Given the description of an element on the screen output the (x, y) to click on. 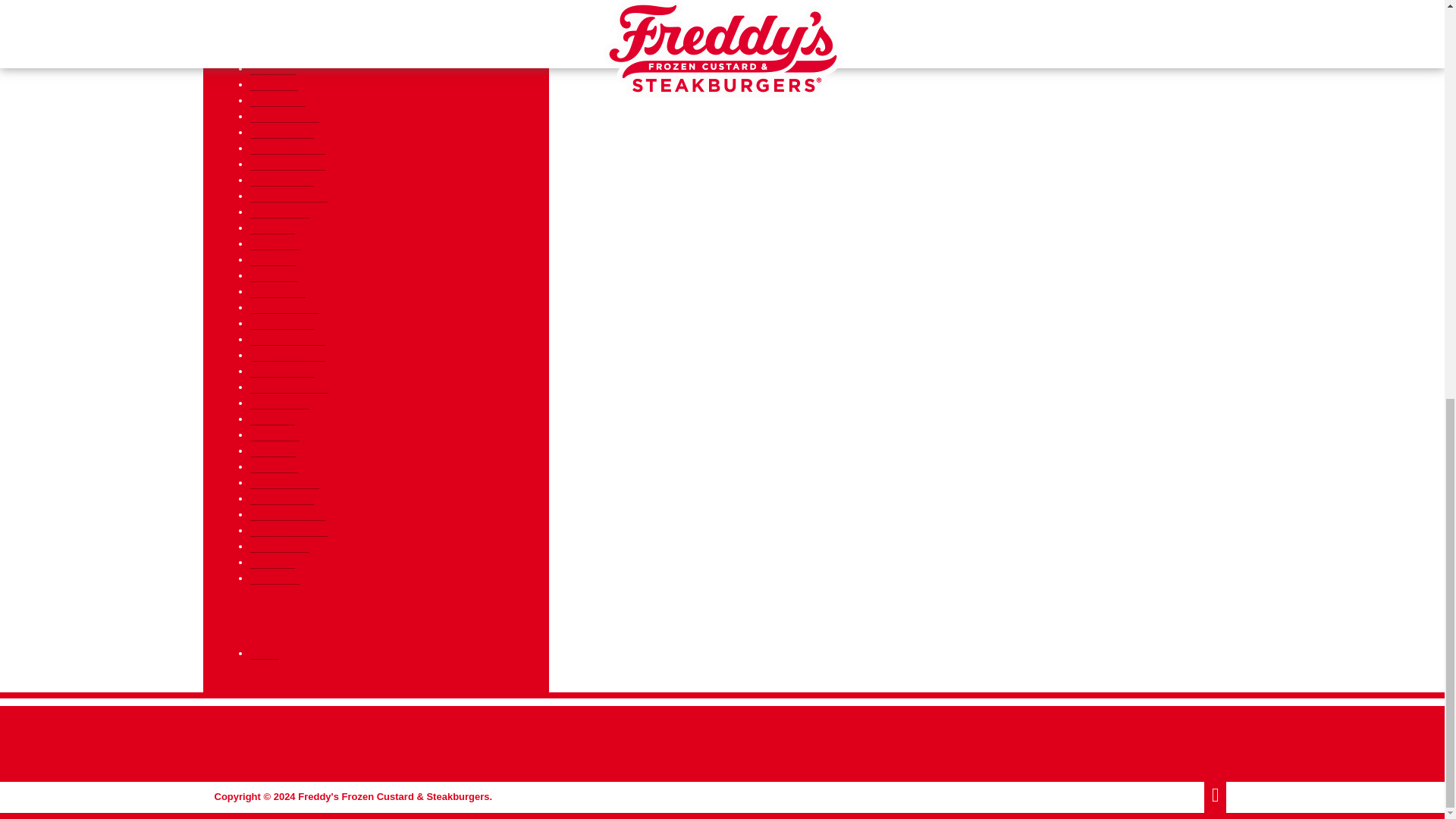
September 2018 (289, 5)
June 2017 (274, 243)
January 2018 (282, 132)
July 2018 (272, 36)
May 2017 (273, 259)
September 2017 (289, 195)
June 2018 (274, 51)
March 2018 (277, 100)
July 2017 (272, 227)
August 2017 (280, 211)
